Given the description of an element on the screen output the (x, y) to click on. 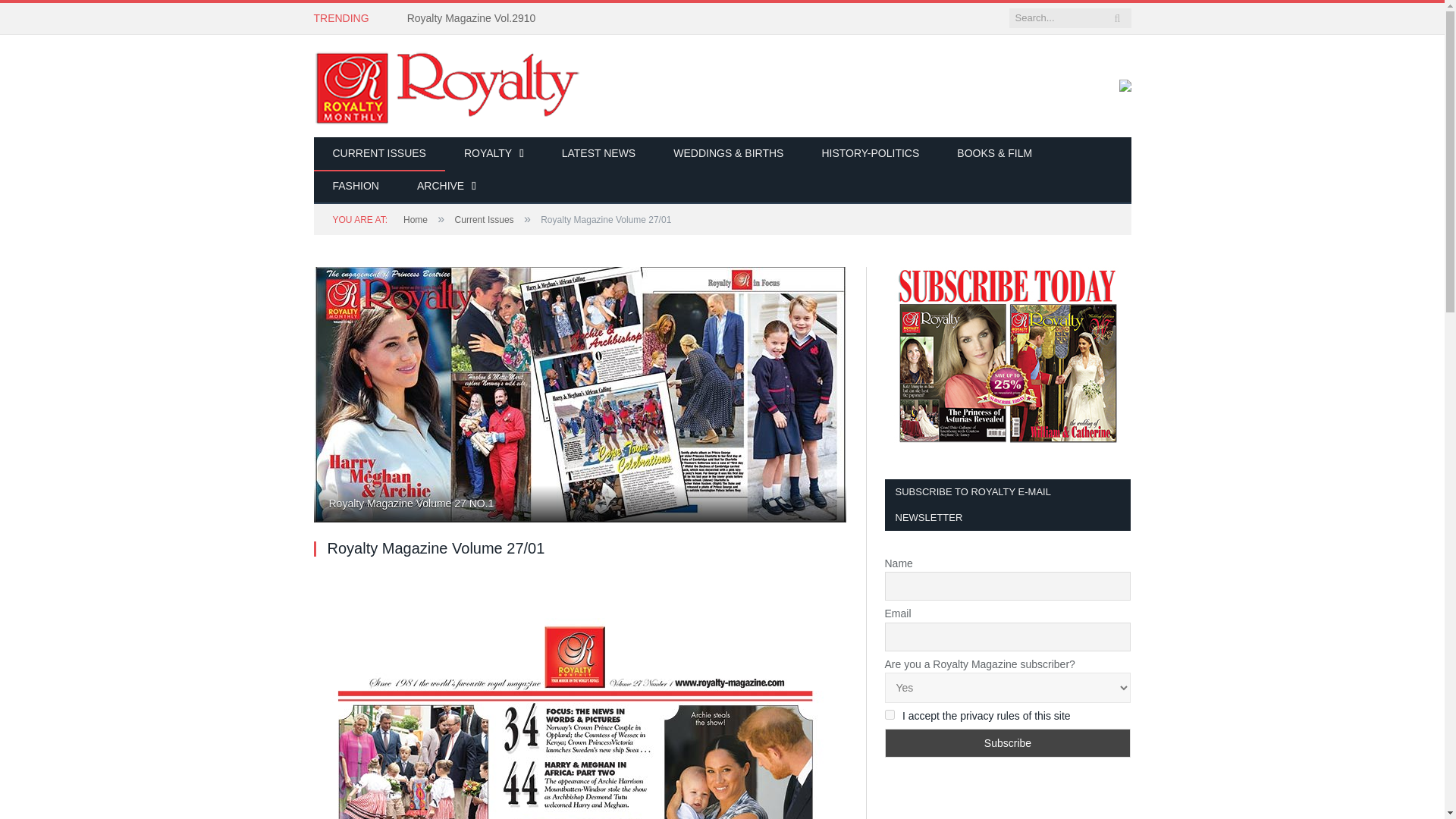
Royalty Magazine Vol.2910 (475, 18)
Current Issues (483, 219)
Subscribe (1007, 742)
HISTORY-POLITICS (869, 154)
CURRENT ISSUES (379, 154)
Royalty Magazine (446, 85)
LATEST NEWS (599, 154)
Royalty Magazine Vol.2910 (475, 18)
Home (415, 219)
ROYALTY (494, 154)
